Given the description of an element on the screen output the (x, y) to click on. 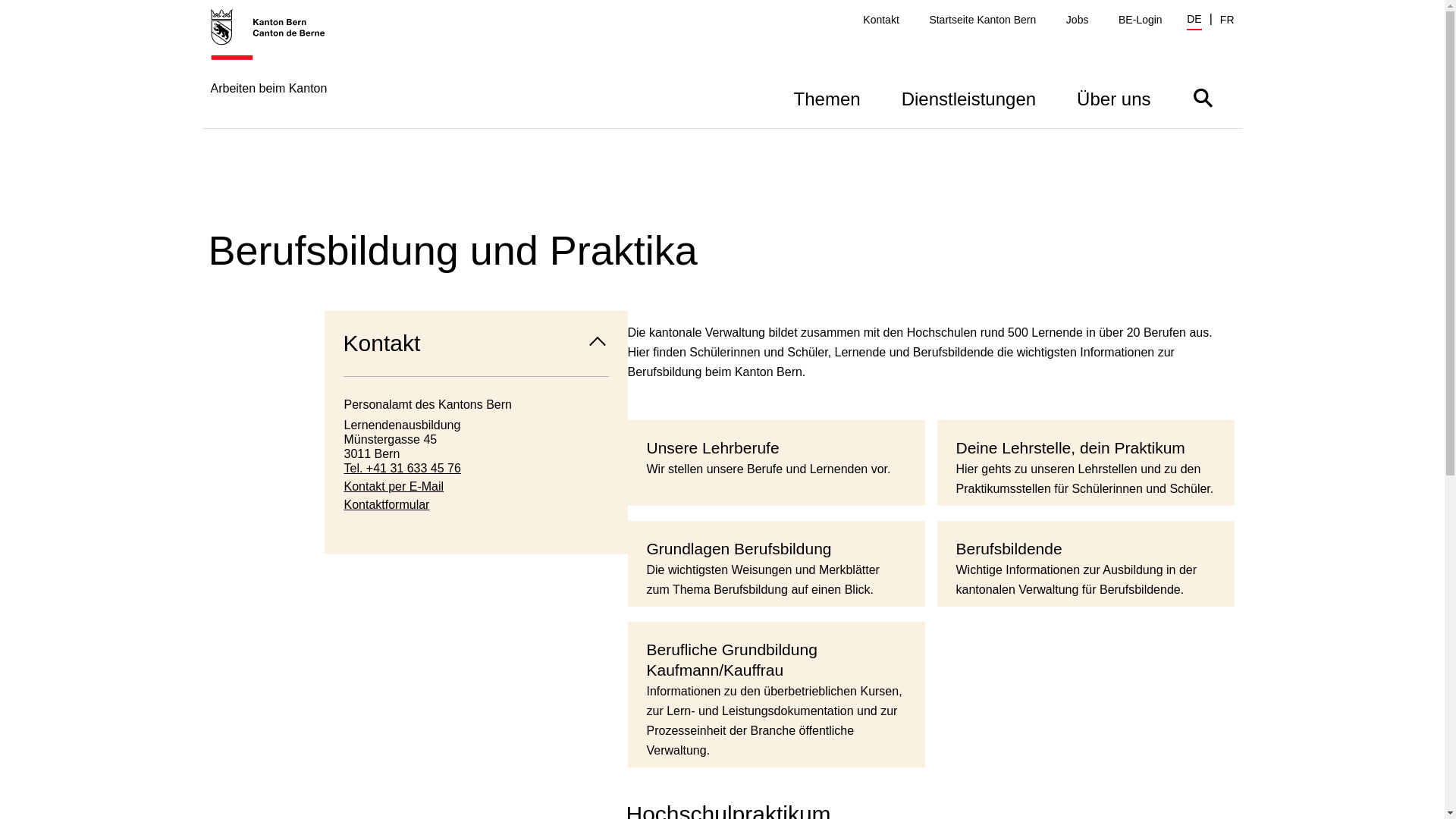
Kontaktformular Element type: text (476, 504)
Kontakt per E-Mail Element type: text (476, 486)
BE-Login Element type: text (1140, 19)
Dienstleistungen Element type: text (968, 96)
Kontakt Element type: text (880, 19)
Tel. +41 31 633 45 76 Element type: text (476, 468)
Suche ein- oder ausblenden Element type: text (1201, 96)
Arbeiten beim Kanton Element type: text (275, 68)
Startseite Kanton Bern Element type: text (981, 19)
FR Element type: text (1227, 19)
Jobs Element type: text (1077, 19)
DE Element type: text (1193, 21)
Kontakt Element type: text (475, 343)
Themen Element type: text (827, 96)
